Given the description of an element on the screen output the (x, y) to click on. 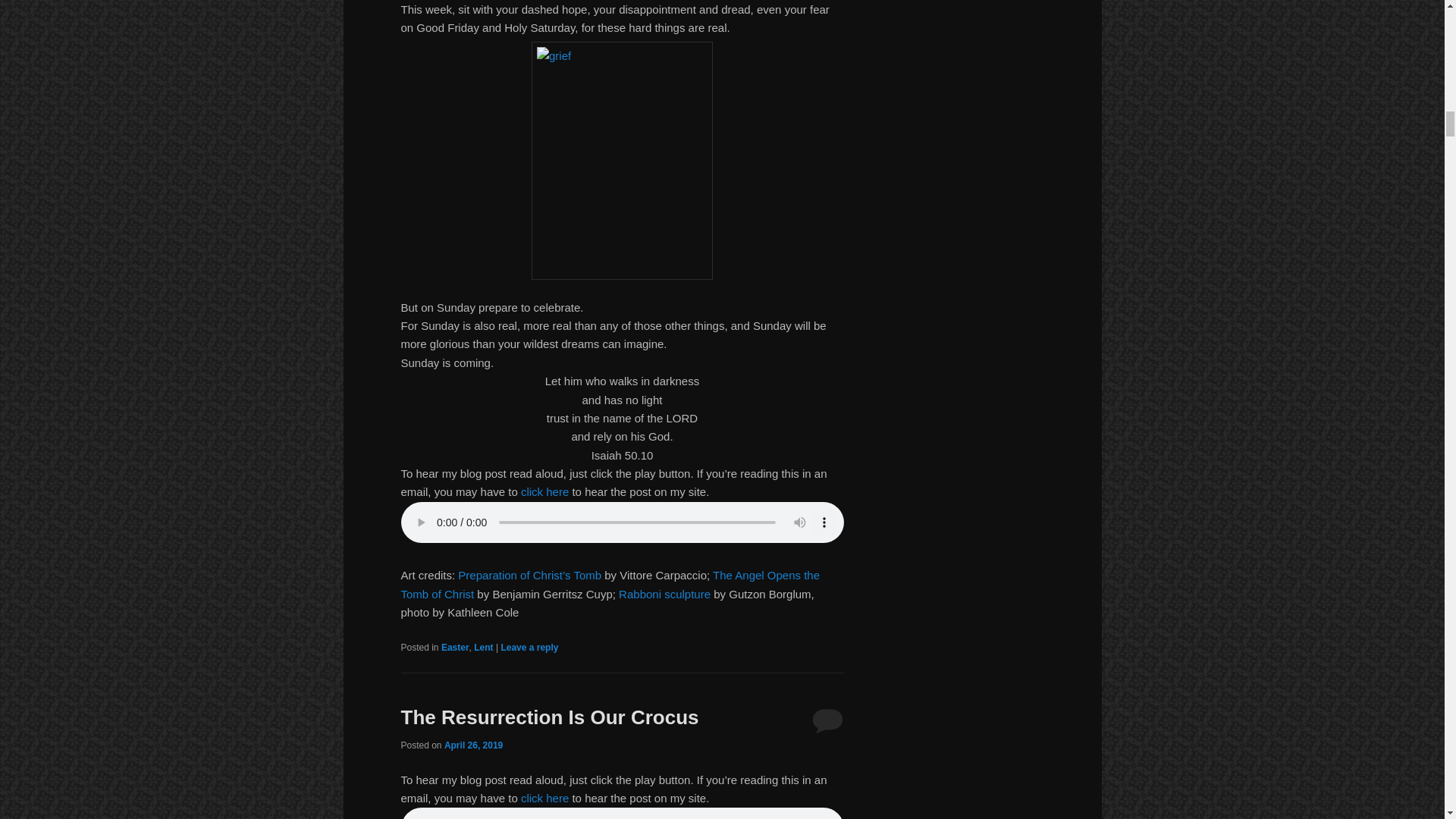
The Angel Opens the Tomb of Christ (609, 583)
Rabboni sculpture (664, 594)
9:30 am (473, 745)
Easter (454, 647)
Lent (483, 647)
click here (545, 491)
Leave a reply (528, 647)
